Given the description of an element on the screen output the (x, y) to click on. 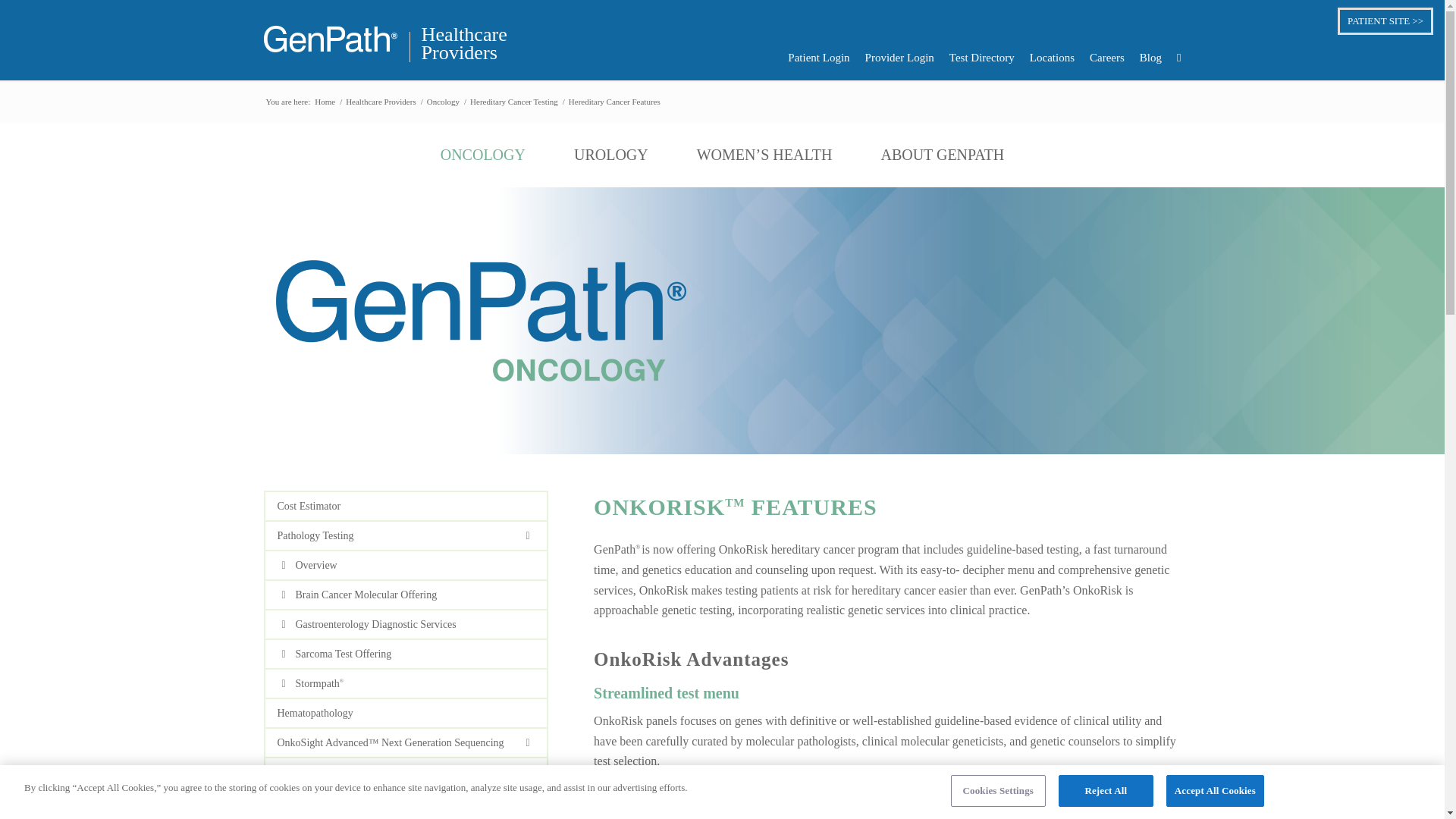
Test Directory (974, 58)
Hereditary Cancer Testing (457, 46)
GenPath (513, 101)
Blog (325, 101)
Patient Login (1142, 58)
Oncology (810, 58)
Careers (443, 101)
Locations (1099, 58)
Healthcare Providers (1044, 58)
